Given the description of an element on the screen output the (x, y) to click on. 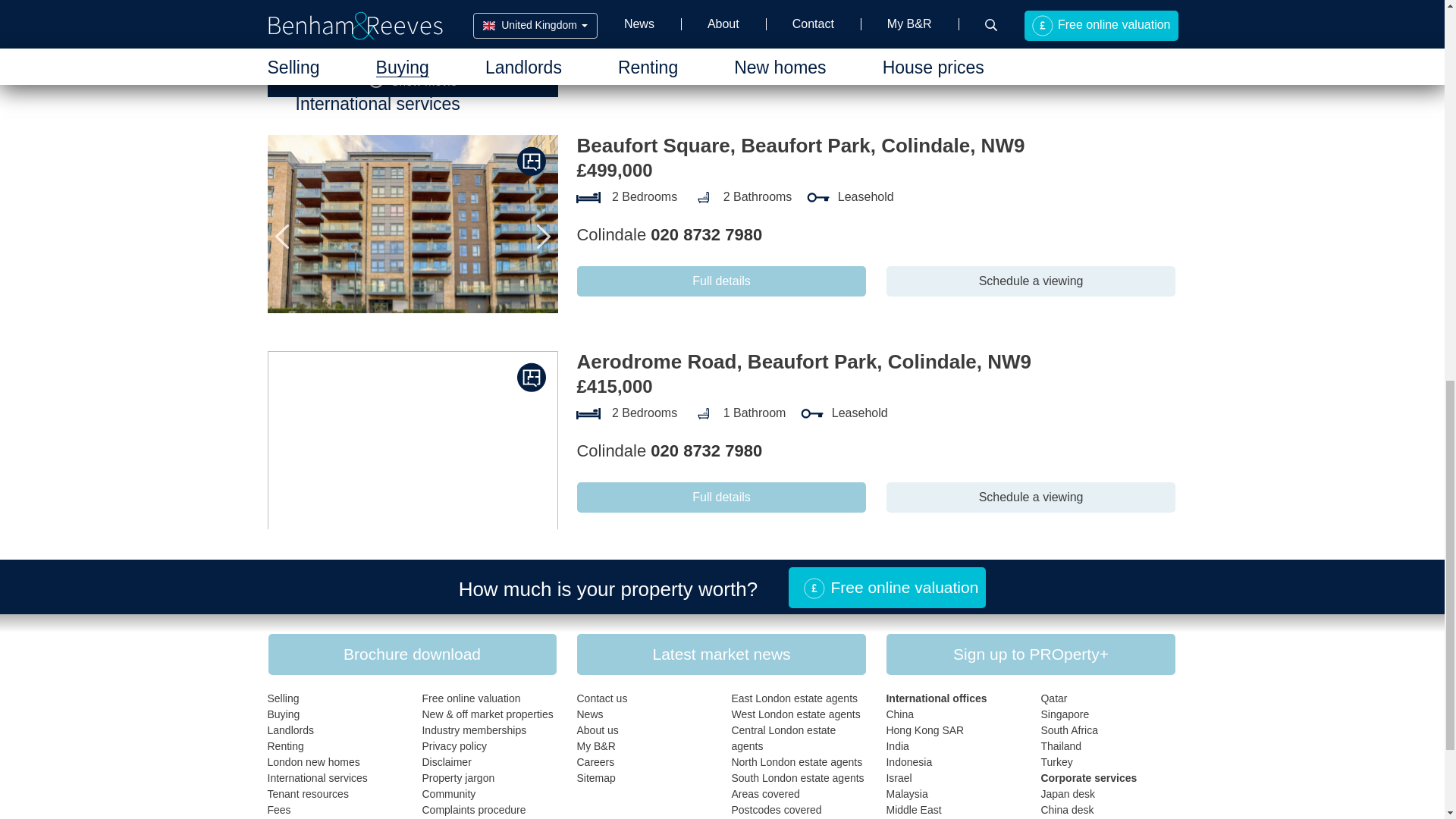
Have floor plan (531, 161)
Have floor plan (531, 377)
